Given the description of an element on the screen output the (x, y) to click on. 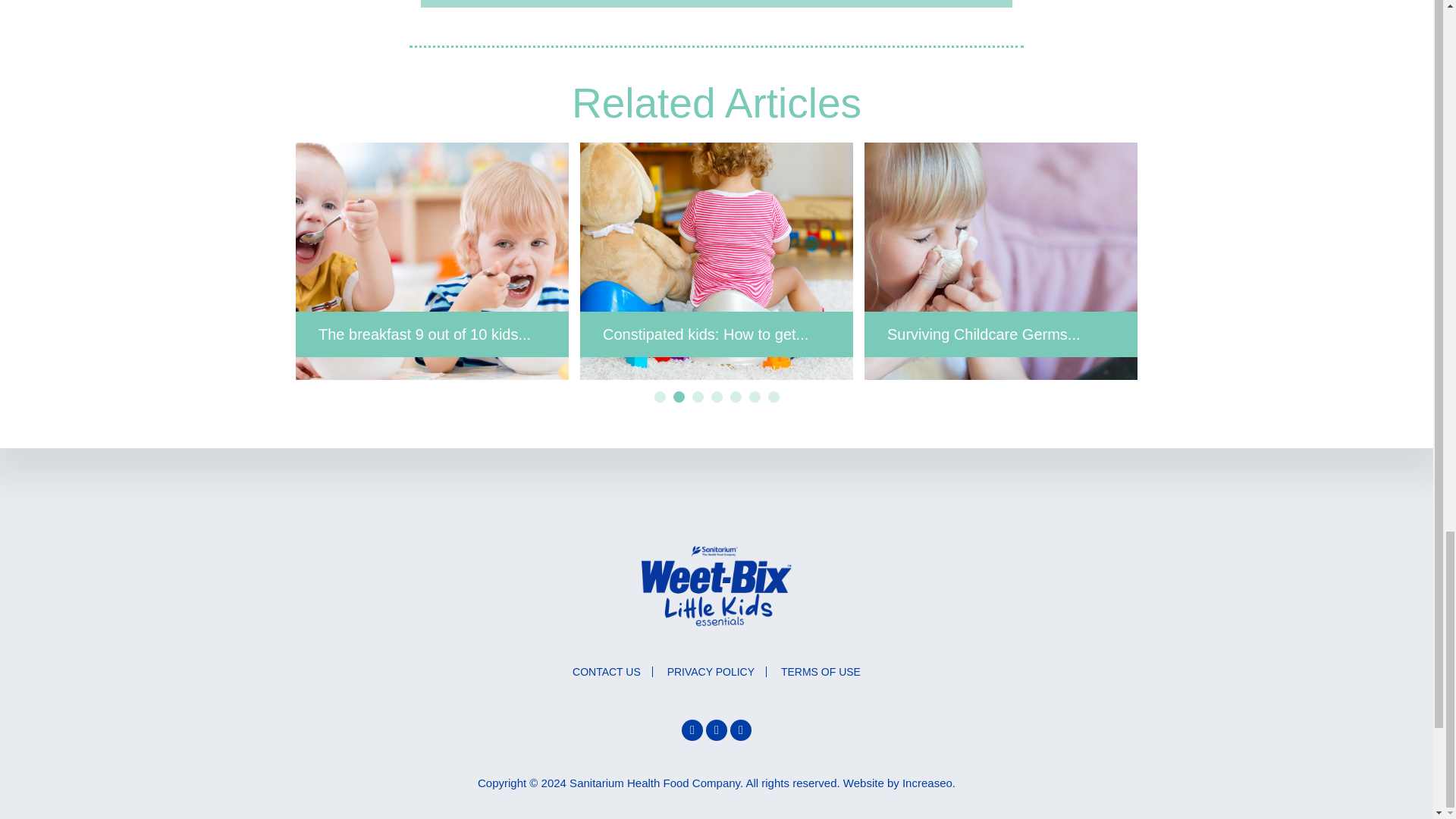
The breakfast 9 out of 10 kids... (432, 261)
Surviving Childcare Germs... (1000, 261)
References (715, 3)
Constipated kids: How to get your toddler to poop (716, 261)
Constipated kids: How to get... (716, 261)
The breakfast 9 out of 10 kids dietitians recommend (432, 261)
